Given the description of an element on the screen output the (x, y) to click on. 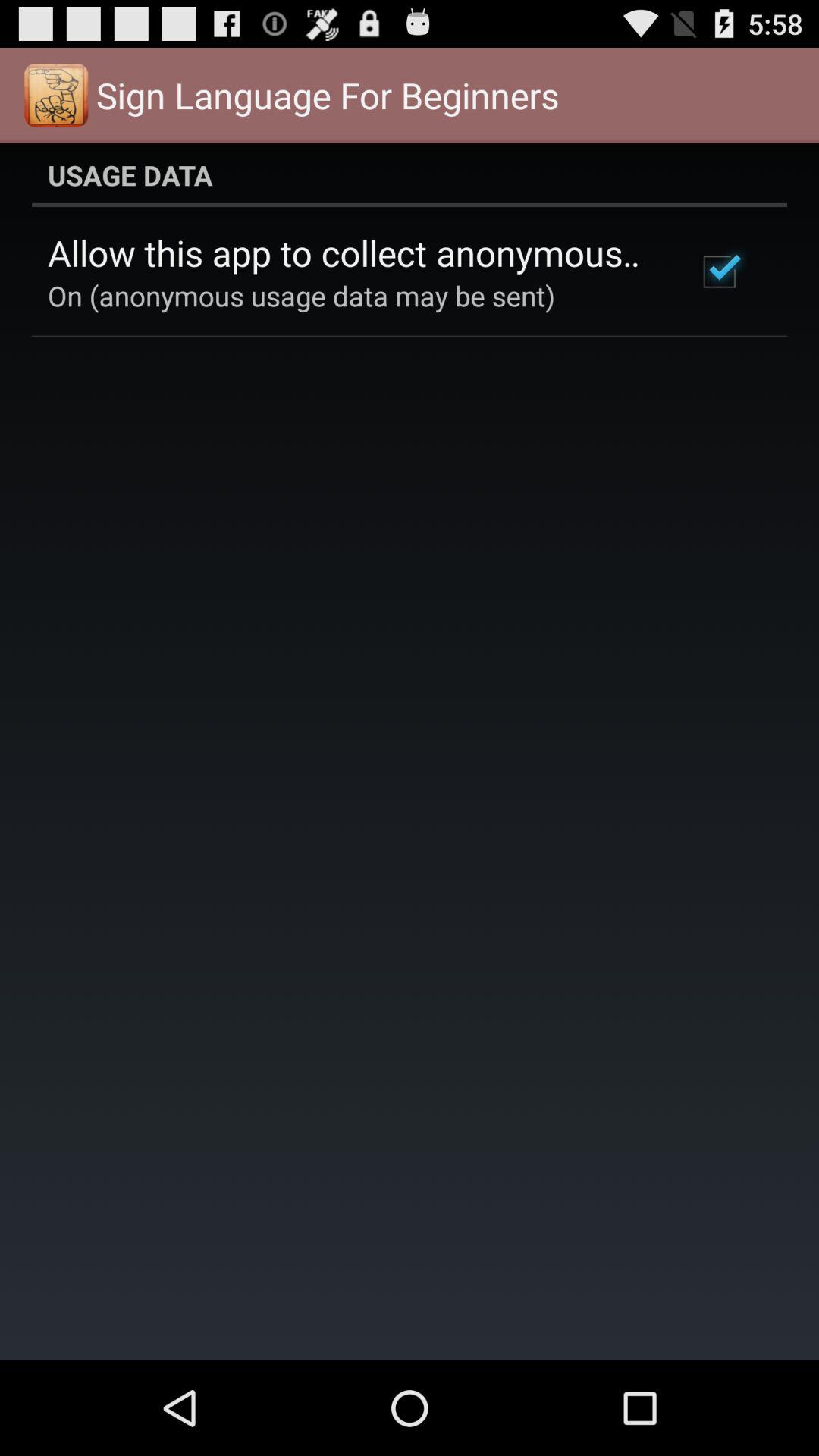
open the item above the on anonymous usage item (351, 252)
